Given the description of an element on the screen output the (x, y) to click on. 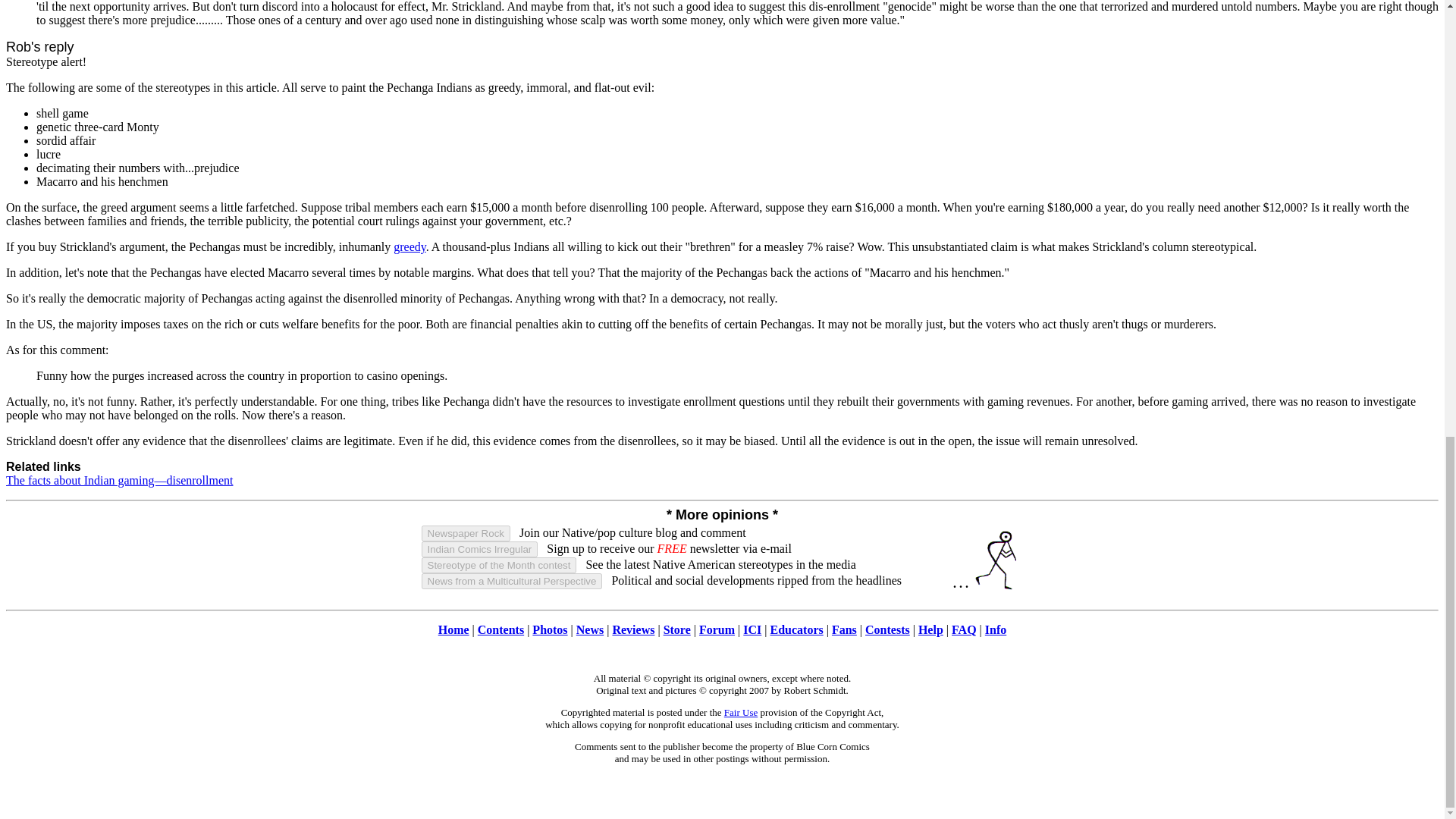
ICI (751, 629)
Stereotype of the Month contest (499, 565)
News (590, 629)
Home (453, 629)
greedy (409, 246)
Info (995, 629)
Forum (716, 629)
Fair Use (740, 712)
Educators (797, 629)
Newspaper Rock (466, 533)
FAQ (964, 629)
Reviews (632, 629)
Photos (549, 629)
Indian Comics Irregular (480, 549)
Contests (887, 629)
